Given the description of an element on the screen output the (x, y) to click on. 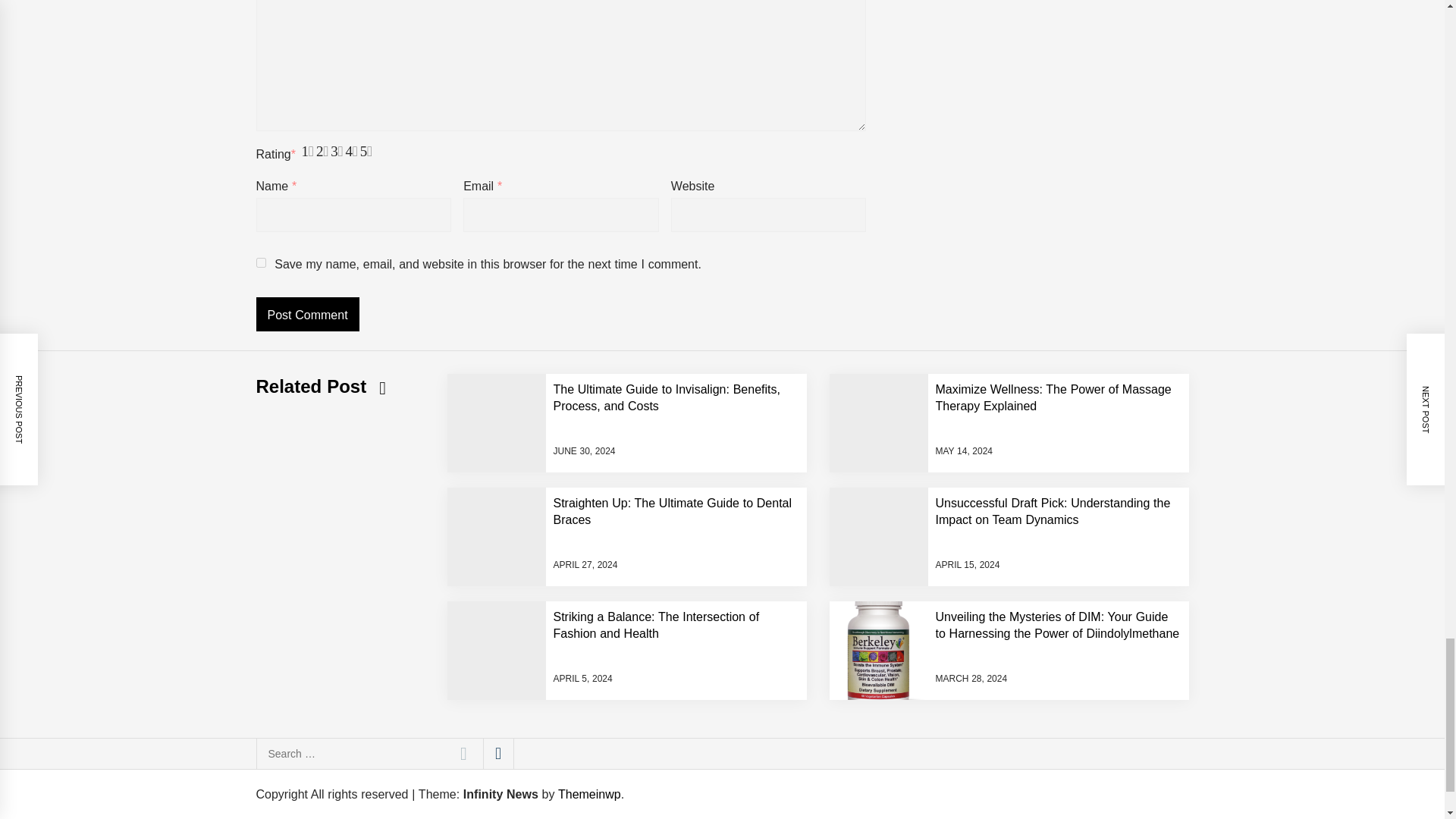
Post Comment (307, 314)
Search (462, 753)
Search (462, 753)
yes (261, 262)
